Given the description of an element on the screen output the (x, y) to click on. 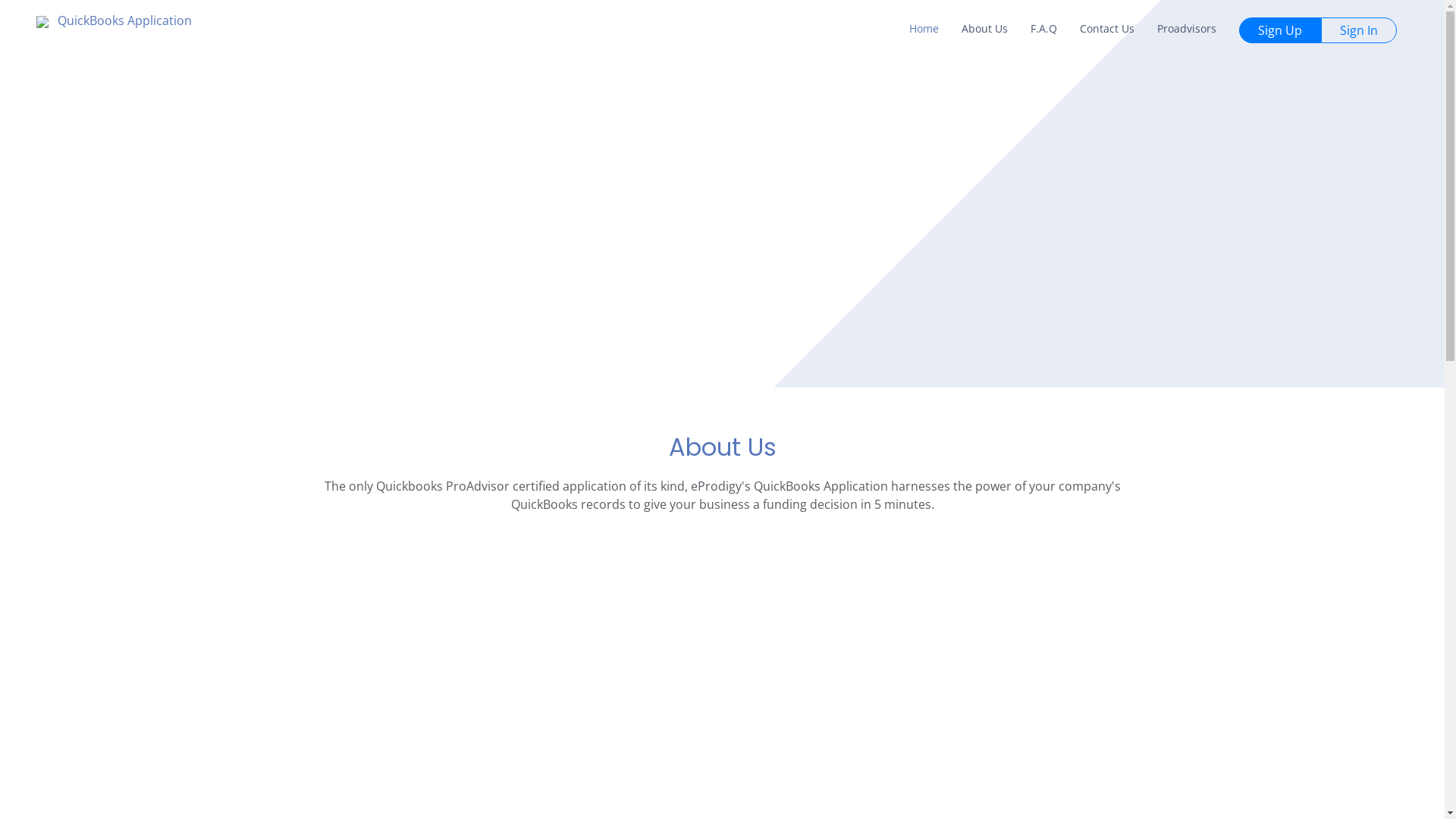
Sign Up Element type: text (1274, 31)
Sign In Element type: text (1364, 31)
F.A.Q Element type: text (1043, 29)
Contact Us Element type: text (1106, 29)
QuickBooks Application Element type: text (113, 20)
About Us Element type: text (984, 29)
Proadvisors Element type: text (1186, 29)
Home Element type: text (923, 29)
